Given the description of an element on the screen output the (x, y) to click on. 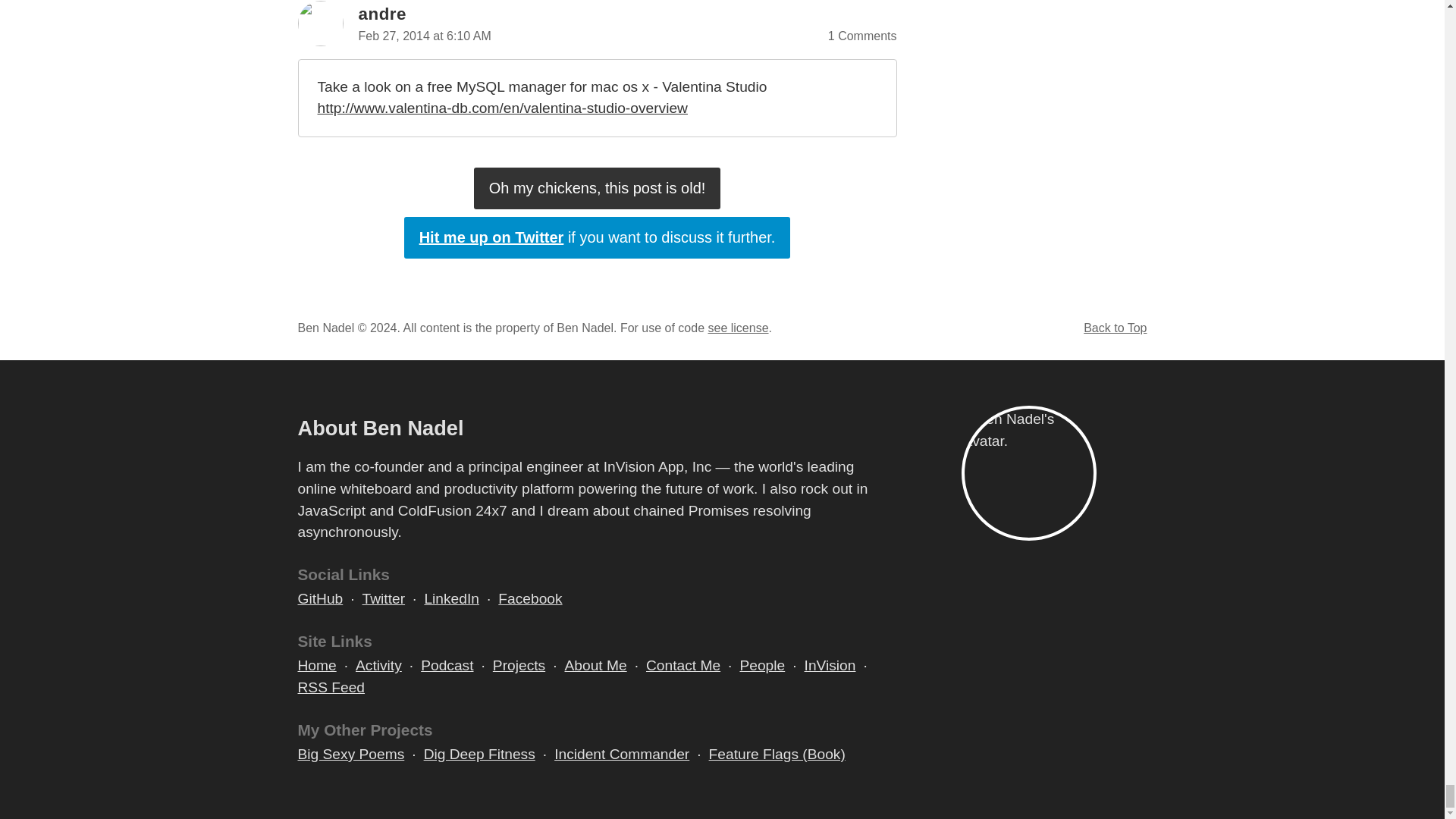
Ben Nadel's podcast, Working Code. (446, 666)
Follow Ben Nadel on GitHub. (319, 599)
Ben Nadel's Twitter Account (597, 237)
Follow Ben Nadel on LinkedIn. (451, 599)
Recent activity on Ben Nadel's blog. (378, 666)
Ben Nadel's open source web development projects. (518, 666)
Follow Ben Nadel on Facebook. (529, 599)
Ben Nadel's Blog on modern web application development (316, 666)
Follow Ben Nadel on Twitter. (384, 599)
